Given the description of an element on the screen output the (x, y) to click on. 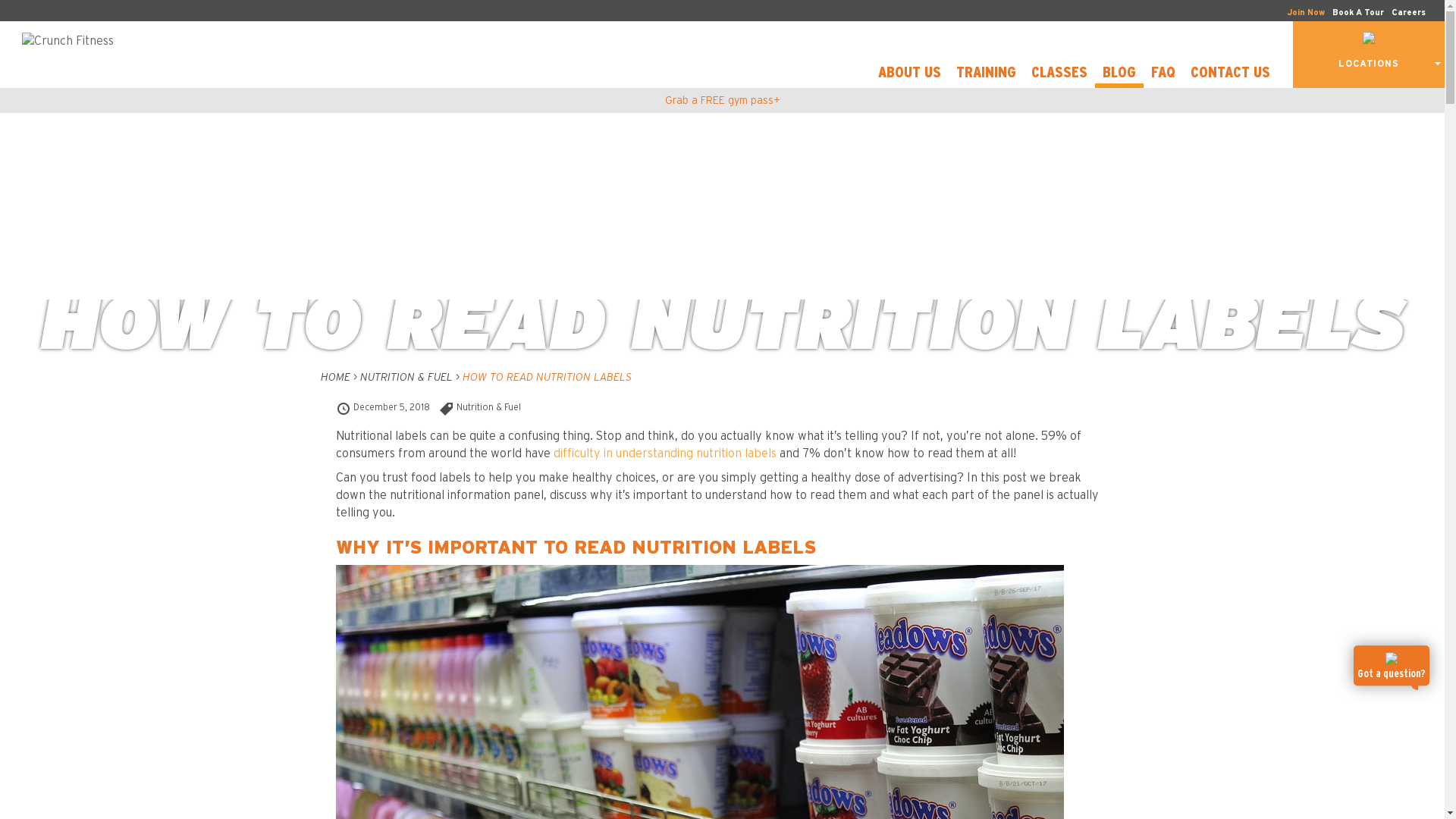
NUTRITION & FUEL Element type: text (405, 377)
Book A Tour Element type: text (1357, 12)
HOME Element type: text (334, 377)
TRAINING Element type: text (985, 74)
Join Now Element type: text (1305, 12)
Careers Element type: text (1408, 12)
ABOUT US Element type: text (909, 74)
difficulty in understanding nutrition labels Element type: text (664, 453)
Grab a FREE gym pass+ Element type: text (721, 100)
CLASSES Element type: text (1059, 74)
CONTACT US Element type: text (1230, 74)
BLOG Element type: text (1119, 74)
Nutrition & Fuel Element type: text (488, 406)
FAQ Element type: text (1163, 74)
